Given the description of an element on the screen output the (x, y) to click on. 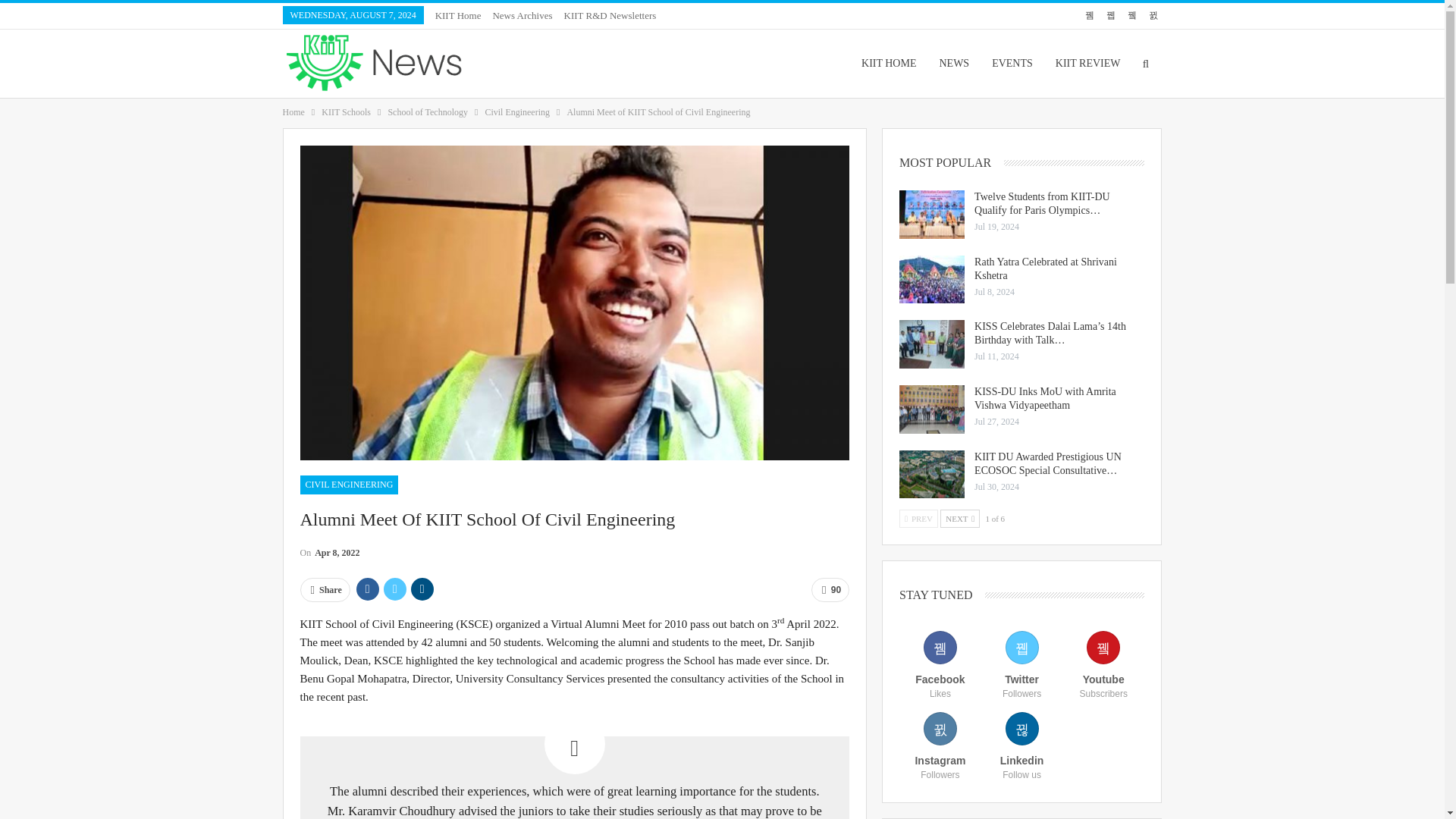
KIIT Home (458, 15)
EVENTS (1011, 63)
Home (293, 112)
KIIT HOME (888, 63)
Rath Yatra Celebrated at Shrivani Kshetra (931, 279)
CIVIL ENGINEERING (348, 484)
Civil Engineering (517, 112)
KIIT Schools (346, 112)
School of Technology (427, 112)
